Given the description of an element on the screen output the (x, y) to click on. 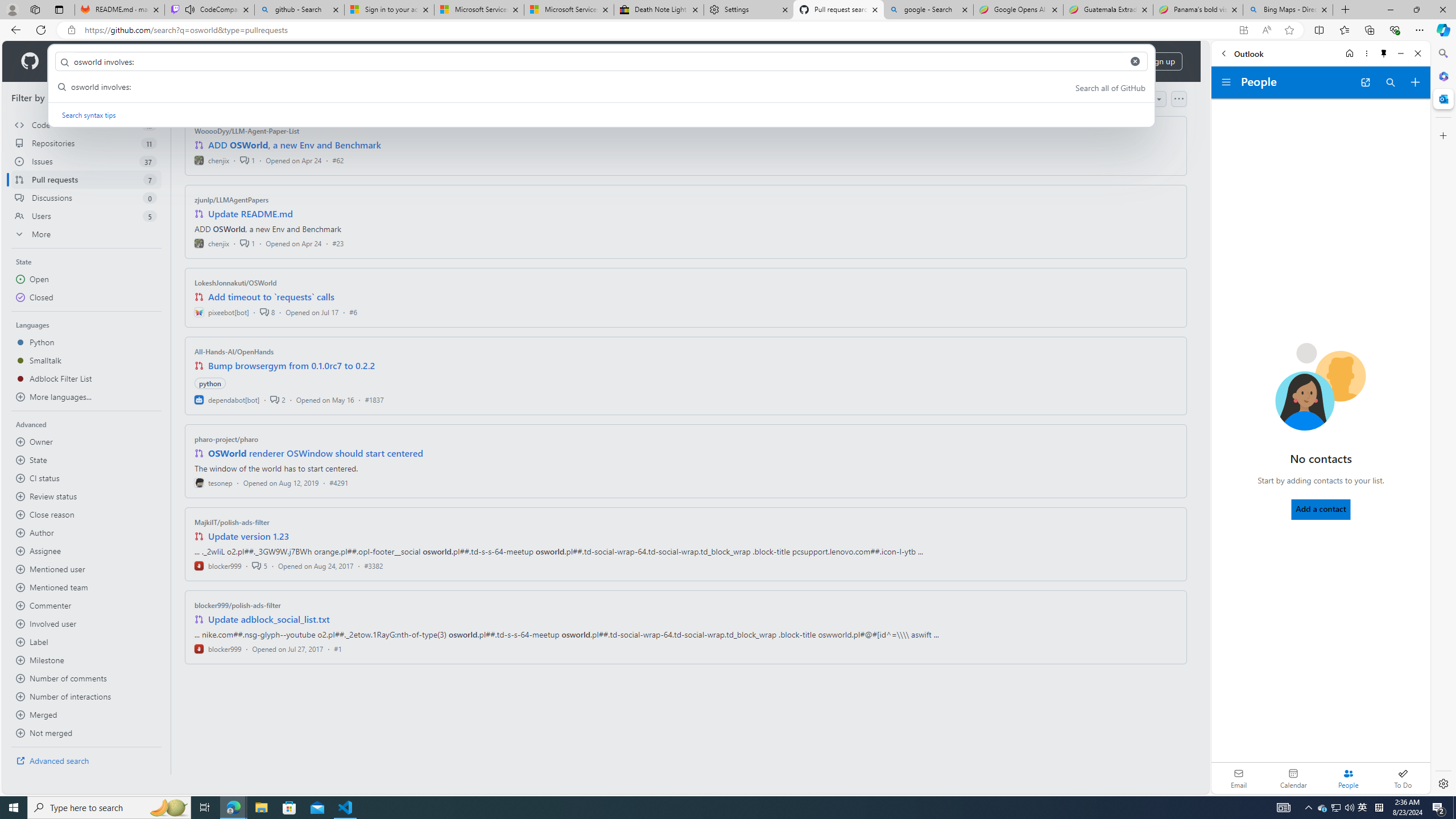
#6 (352, 311)
#3382 (373, 565)
github - Search (298, 9)
zjunlp/LLMAgentPapers (232, 199)
MajkiIT/polish-ads-filter (232, 521)
#62 (337, 159)
2 (277, 398)
Selected people module (1347, 777)
